Given the description of an element on the screen output the (x, y) to click on. 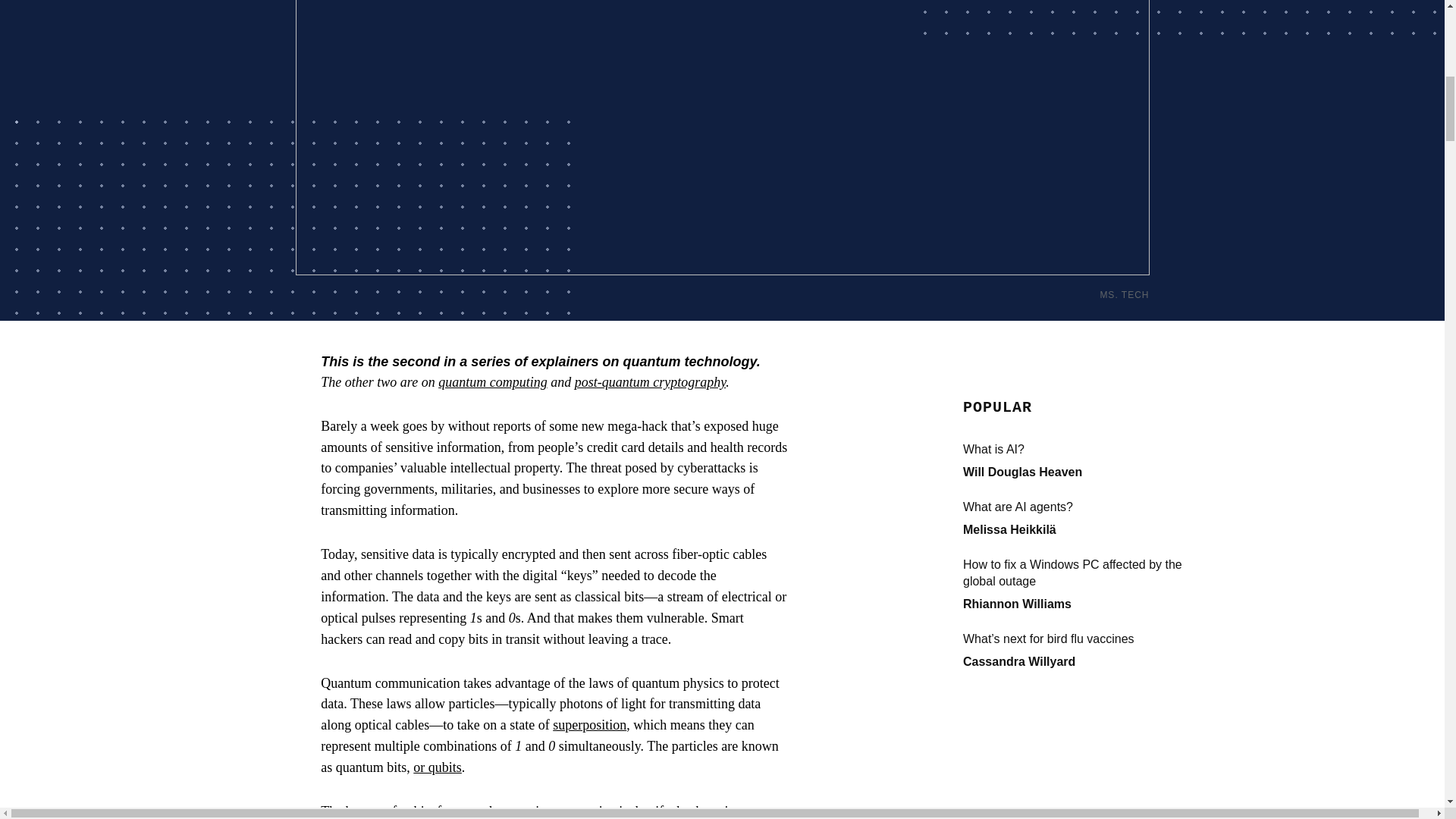
quantum computing (492, 381)
superposition (589, 724)
Will Douglas Heaven (1021, 472)
post-quantum cryptography (650, 381)
or qubits (437, 767)
What is AI? (1075, 449)
